Given the description of an element on the screen output the (x, y) to click on. 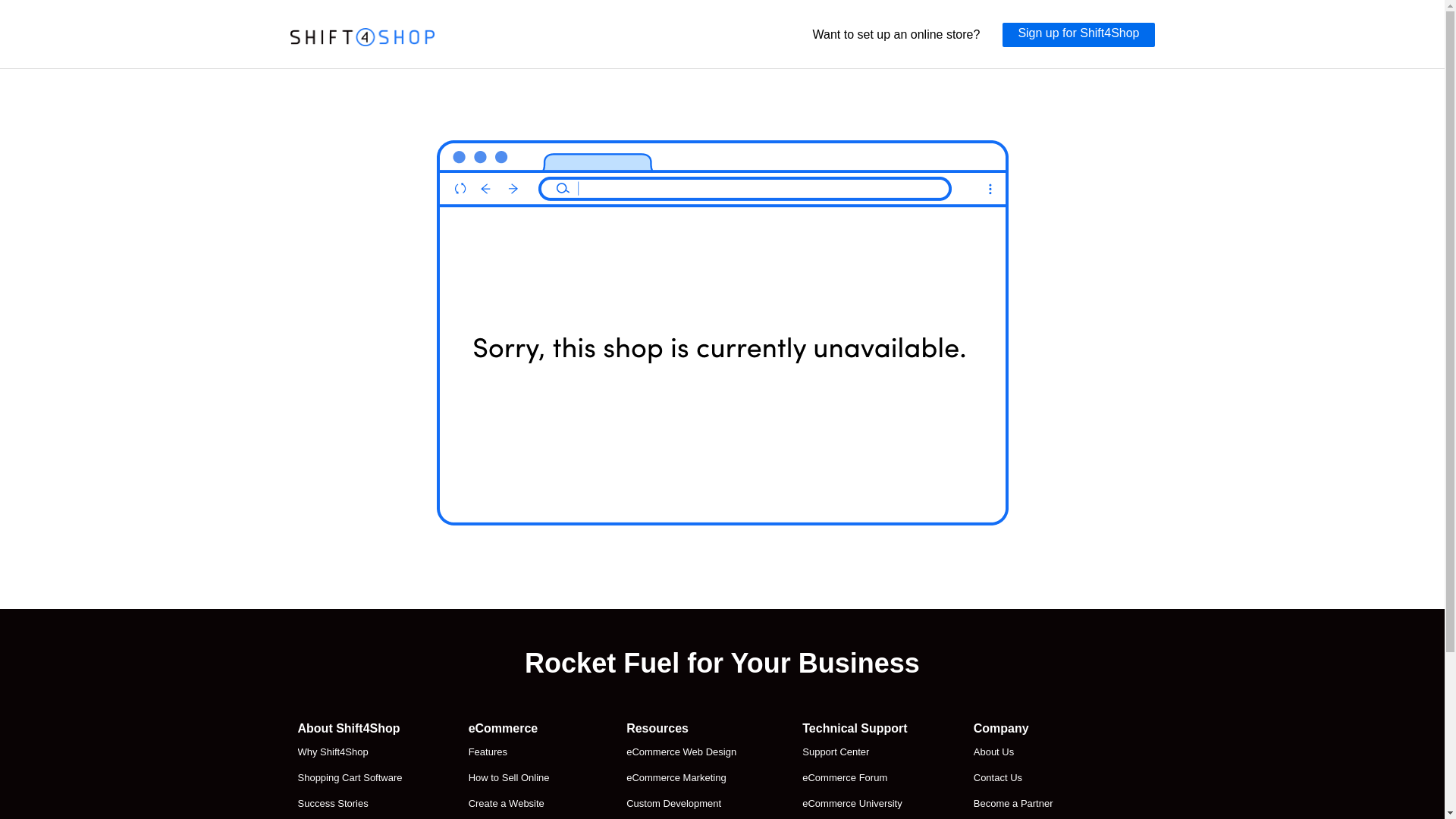
eCommerce Forum (854, 777)
Create a Website (514, 803)
Custom Development (681, 803)
Become a Partner (1027, 803)
Shopping Cart Software (349, 777)
How to Sell Online (514, 777)
eCommerce Marketing (681, 777)
eCommerce University (854, 803)
eCommerce Web Design (681, 752)
About Us (1027, 752)
Support Center (854, 752)
Sign up for Shift4Shop (1078, 34)
Success Stories (349, 803)
Features (514, 752)
Why Shift4Shop (349, 752)
